Given the description of an element on the screen output the (x, y) to click on. 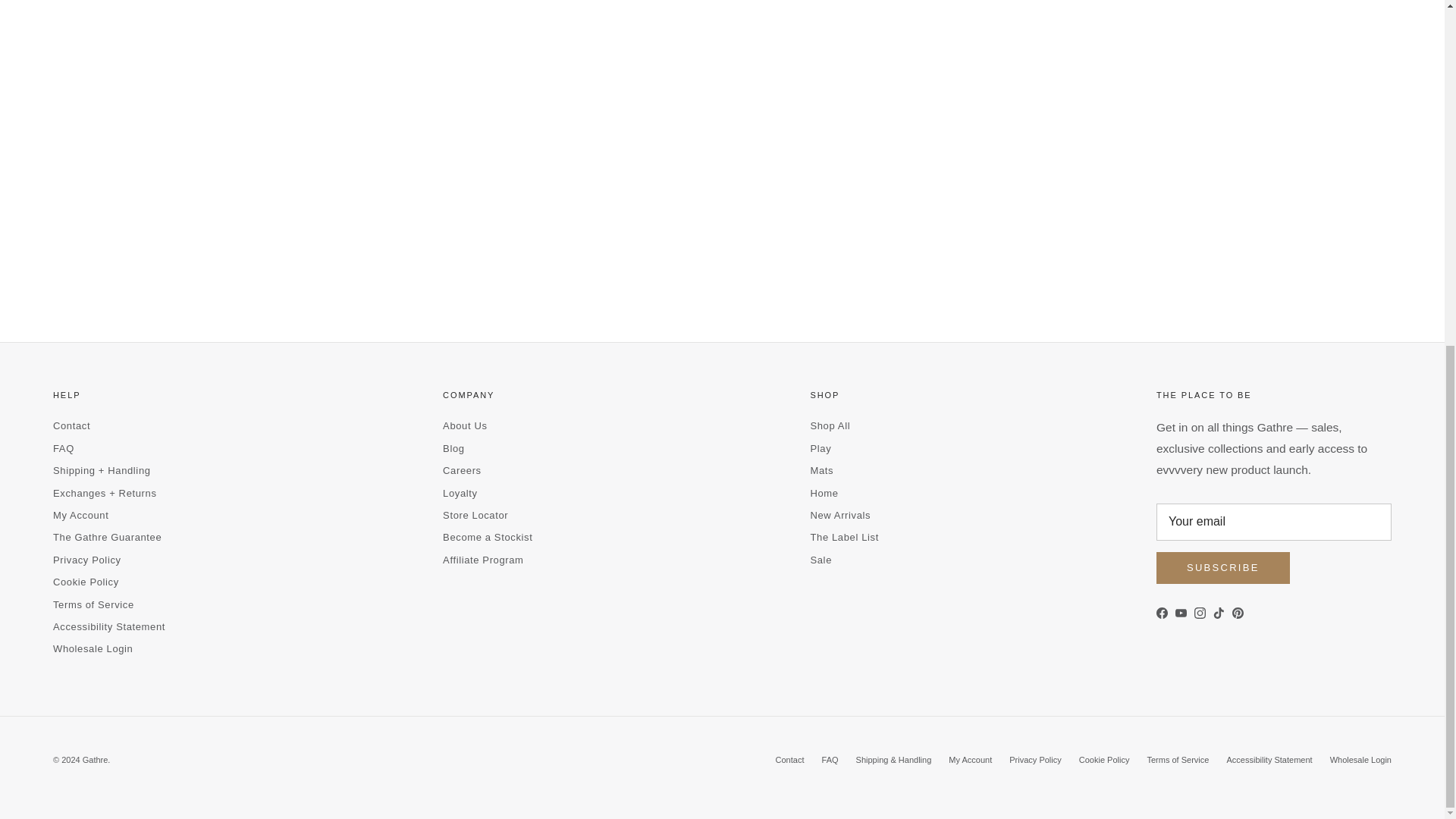
Gathre on TikTok (1218, 613)
Gathre on Instagram (1199, 613)
Gathre on Facebook (1161, 613)
Gathre on YouTube (1180, 613)
Gathre on Pinterest (1237, 613)
